Given the description of an element on the screen output the (x, y) to click on. 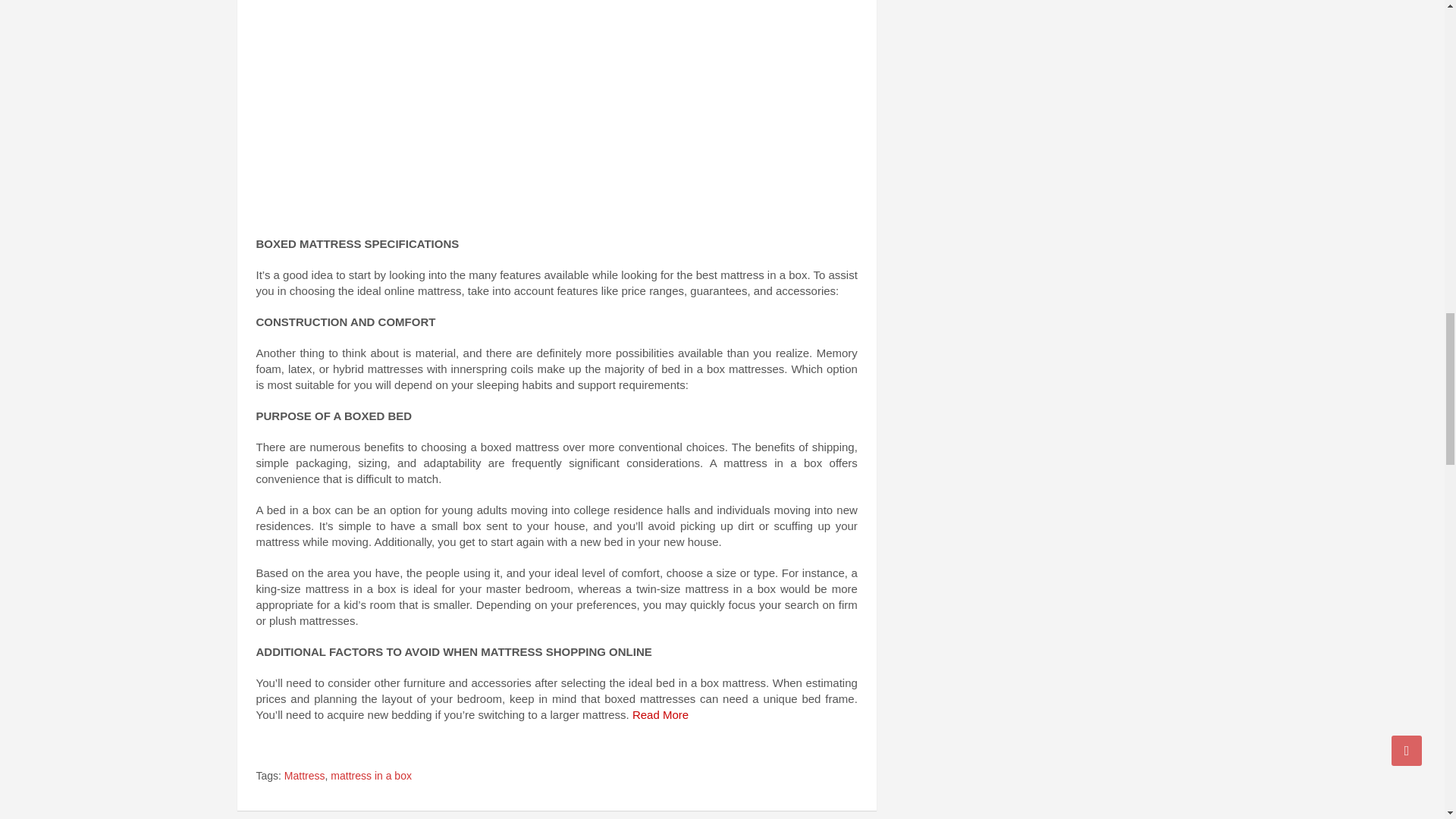
Mattress (303, 776)
Read More  (661, 714)
mattress in a box (371, 776)
